Given the description of an element on the screen output the (x, y) to click on. 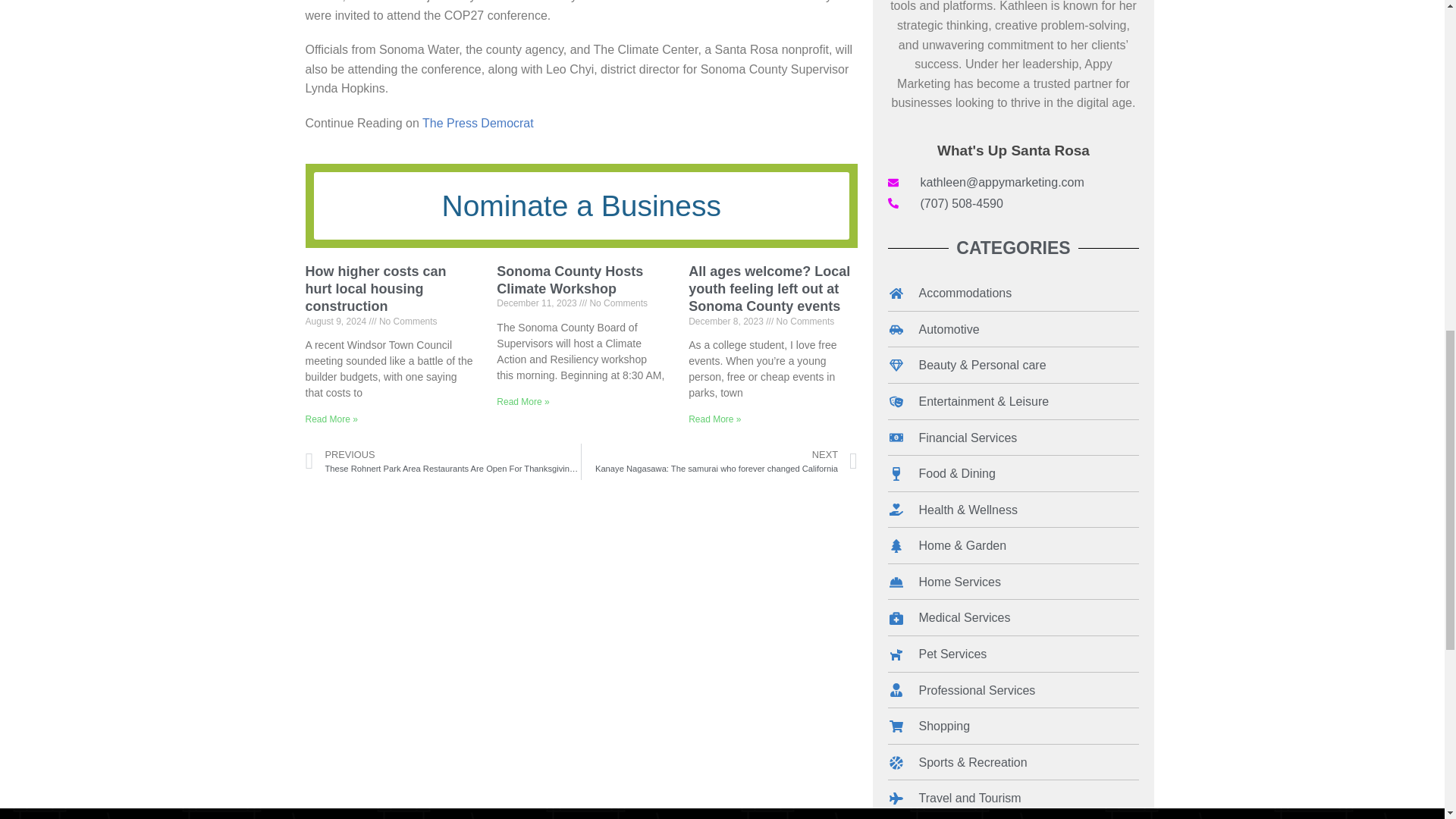
Sonoma County Hosts Climate Workshop (569, 279)
How higher costs can hurt local housing construction (374, 288)
Nominate a Business (581, 205)
The Press Democrat (478, 123)
